Given the description of an element on the screen output the (x, y) to click on. 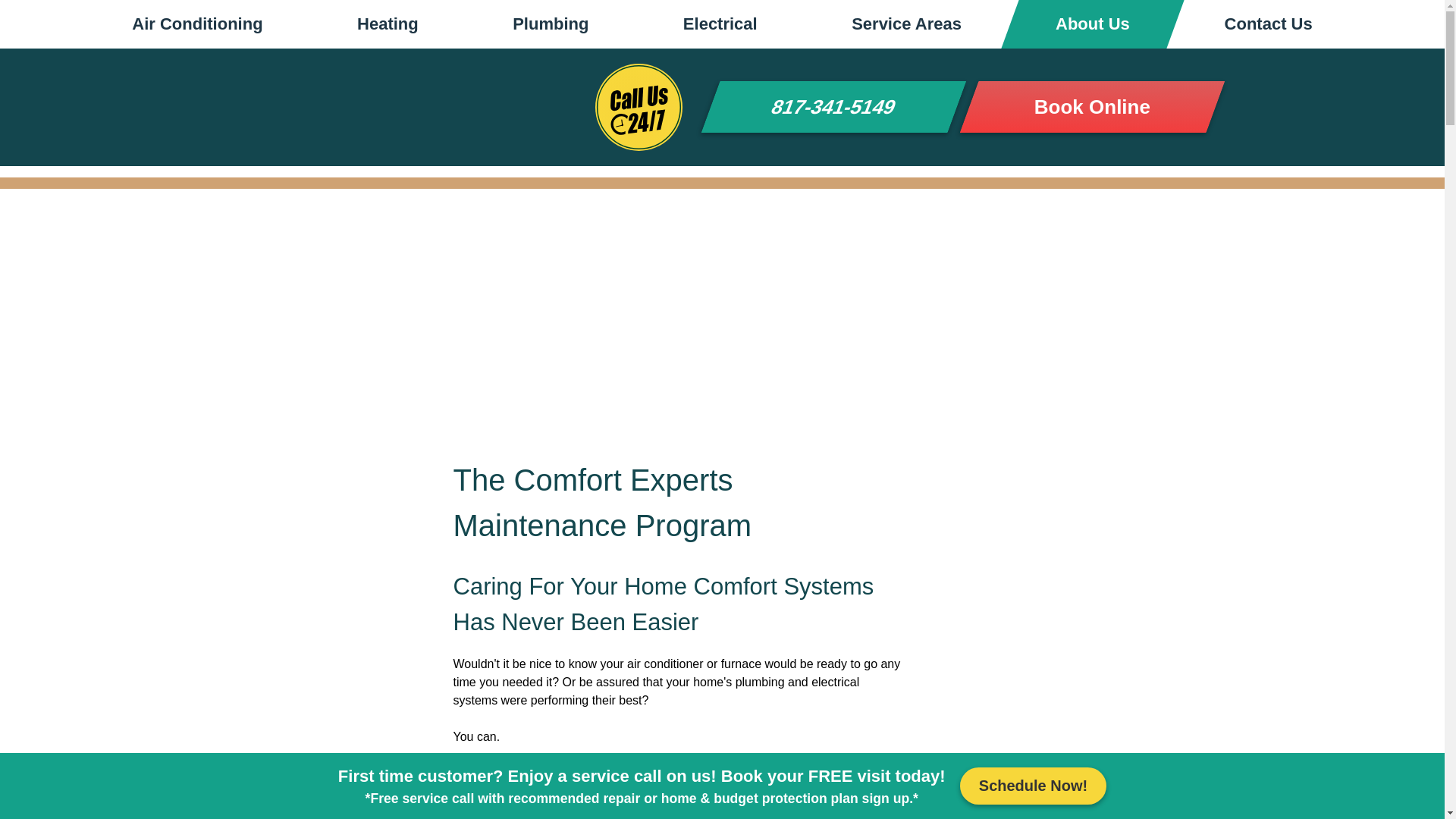
Plumbing (550, 24)
Request Service (1032, 785)
Service Areas (906, 24)
Electrical (720, 24)
Air Conditioning (196, 24)
Heating (387, 24)
